Given the description of an element on the screen output the (x, y) to click on. 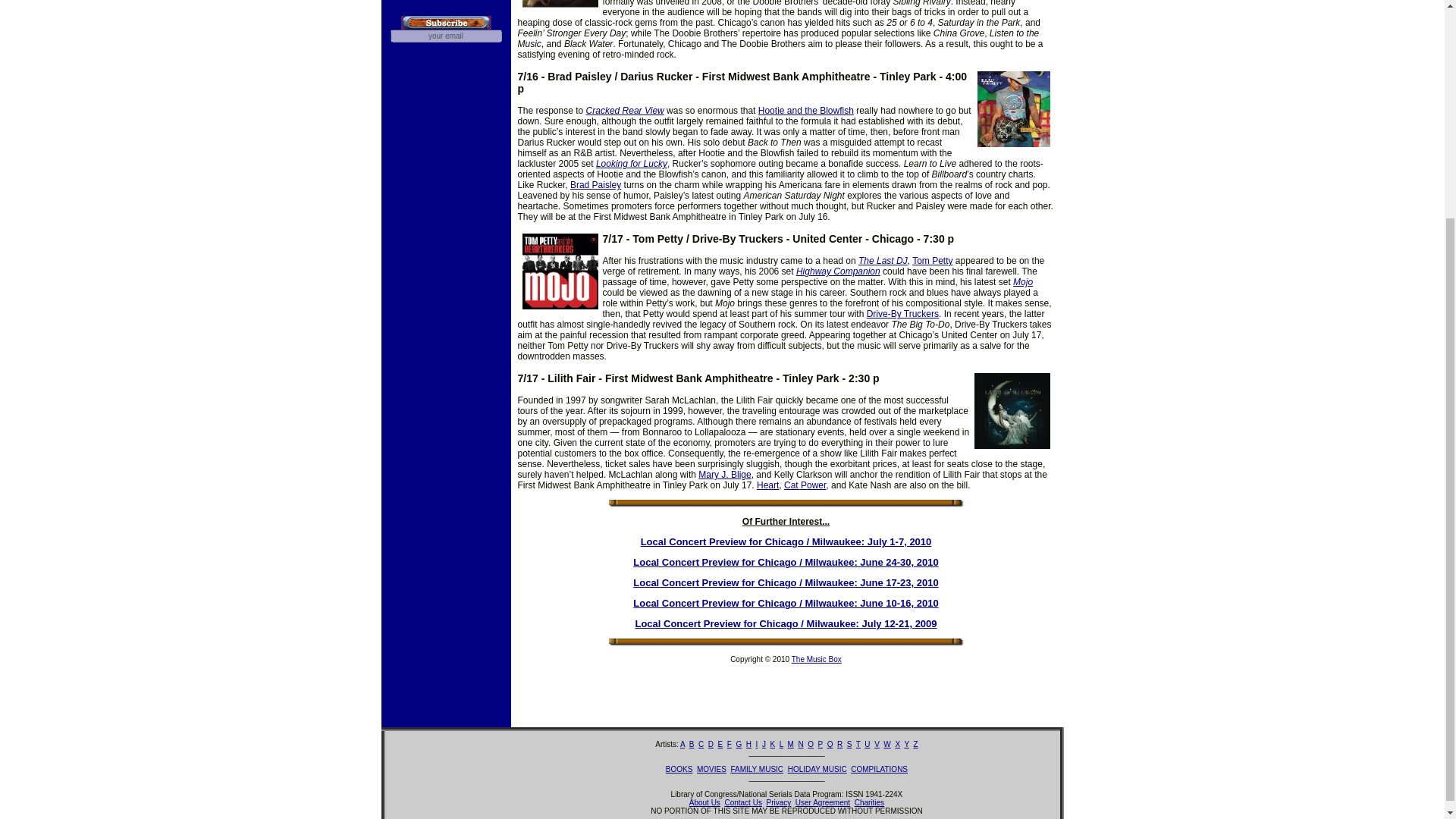
Hootie and the Blowfish (805, 110)
Heart (767, 484)
Drive-By Truckers (902, 313)
The Last DJ (883, 260)
The Music Box (816, 659)
Cracked Rear View (624, 110)
Highway Companion (838, 271)
Mary J. Blige (724, 474)
Looking for Lucky (630, 163)
Tom Petty (932, 260)
Cat Power (804, 484)
your email (445, 35)
Mojo (1022, 281)
Brad Paisley (595, 184)
